Given the description of an element on the screen output the (x, y) to click on. 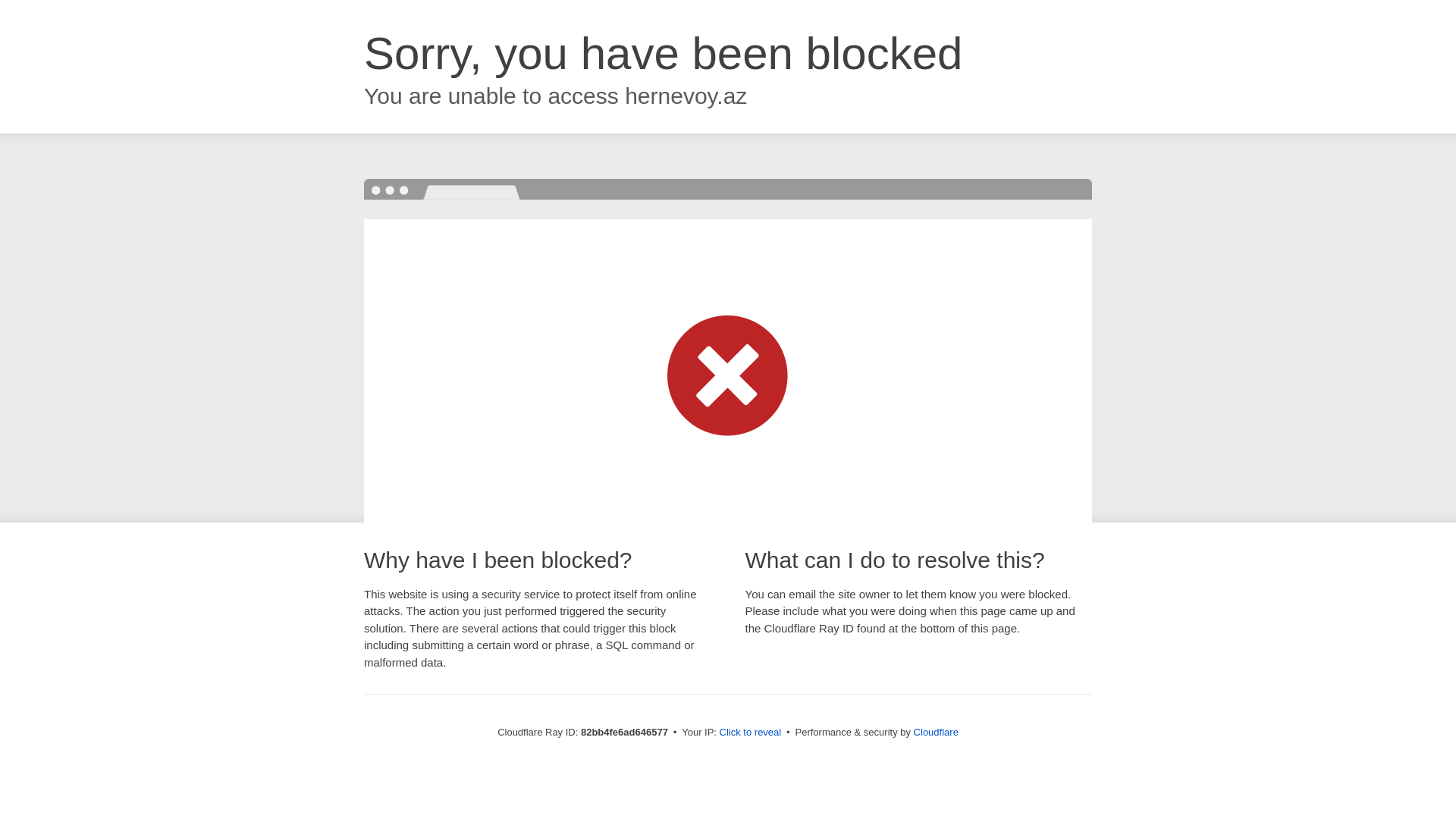
Cloudflare Element type: text (935, 731)
Click to reveal Element type: text (750, 732)
